Given the description of an element on the screen output the (x, y) to click on. 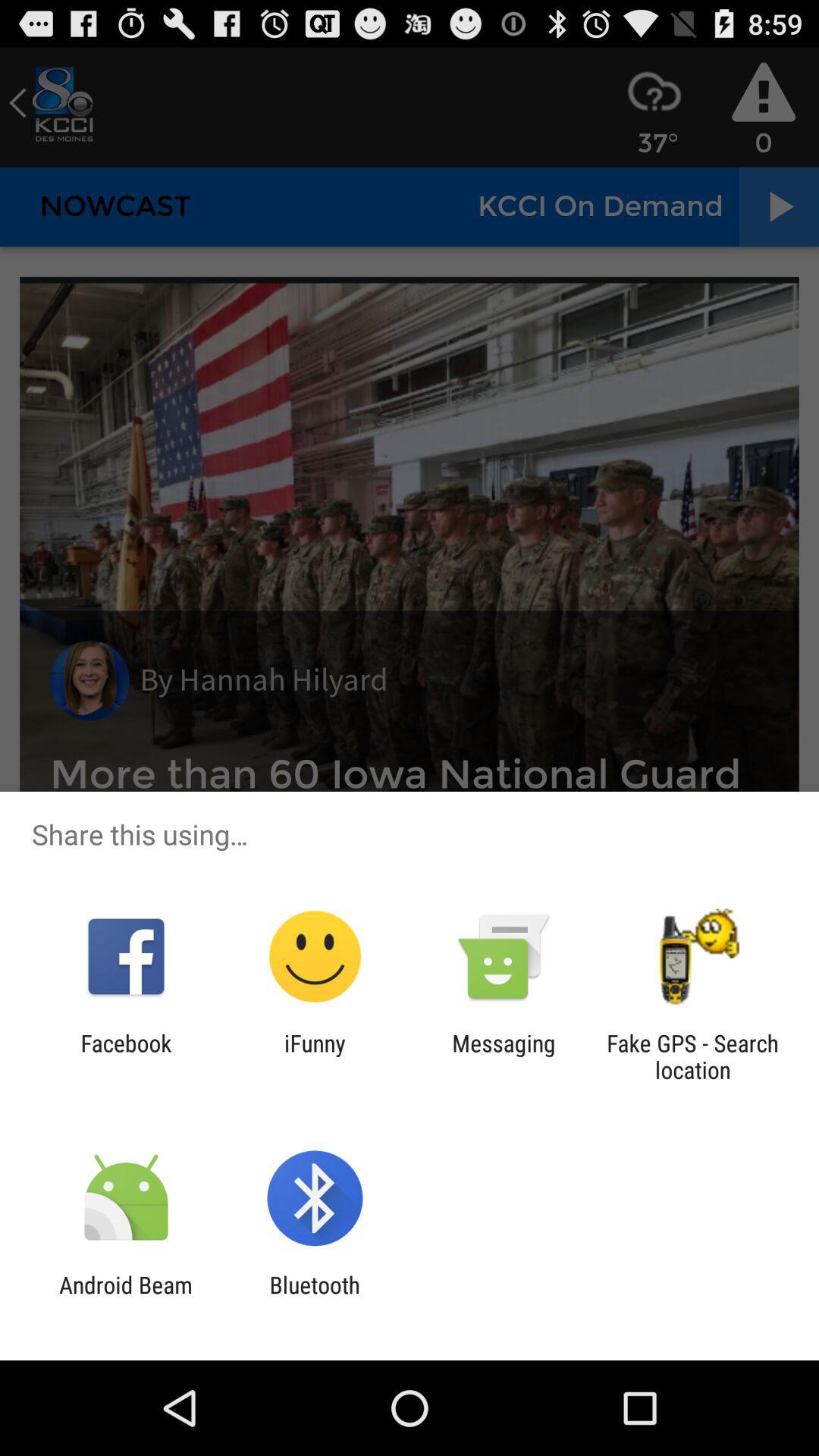
jump to bluetooth icon (314, 1298)
